Given the description of an element on the screen output the (x, y) to click on. 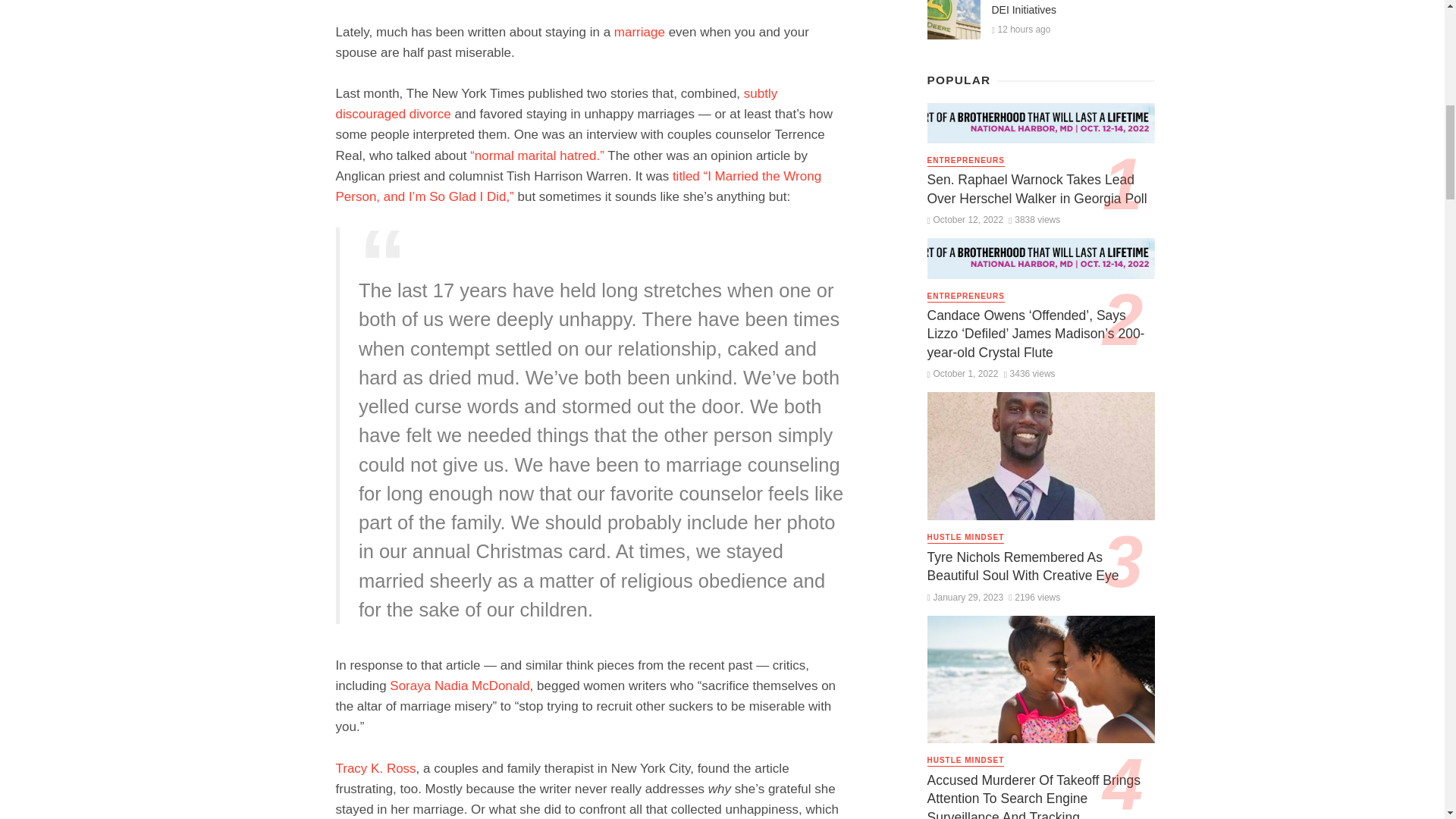
subtly discouraged divorce (555, 103)
Tracy K. Ross (374, 768)
marriage (639, 31)
Soraya Nadia McDonald (459, 685)
